Given the description of an element on the screen output the (x, y) to click on. 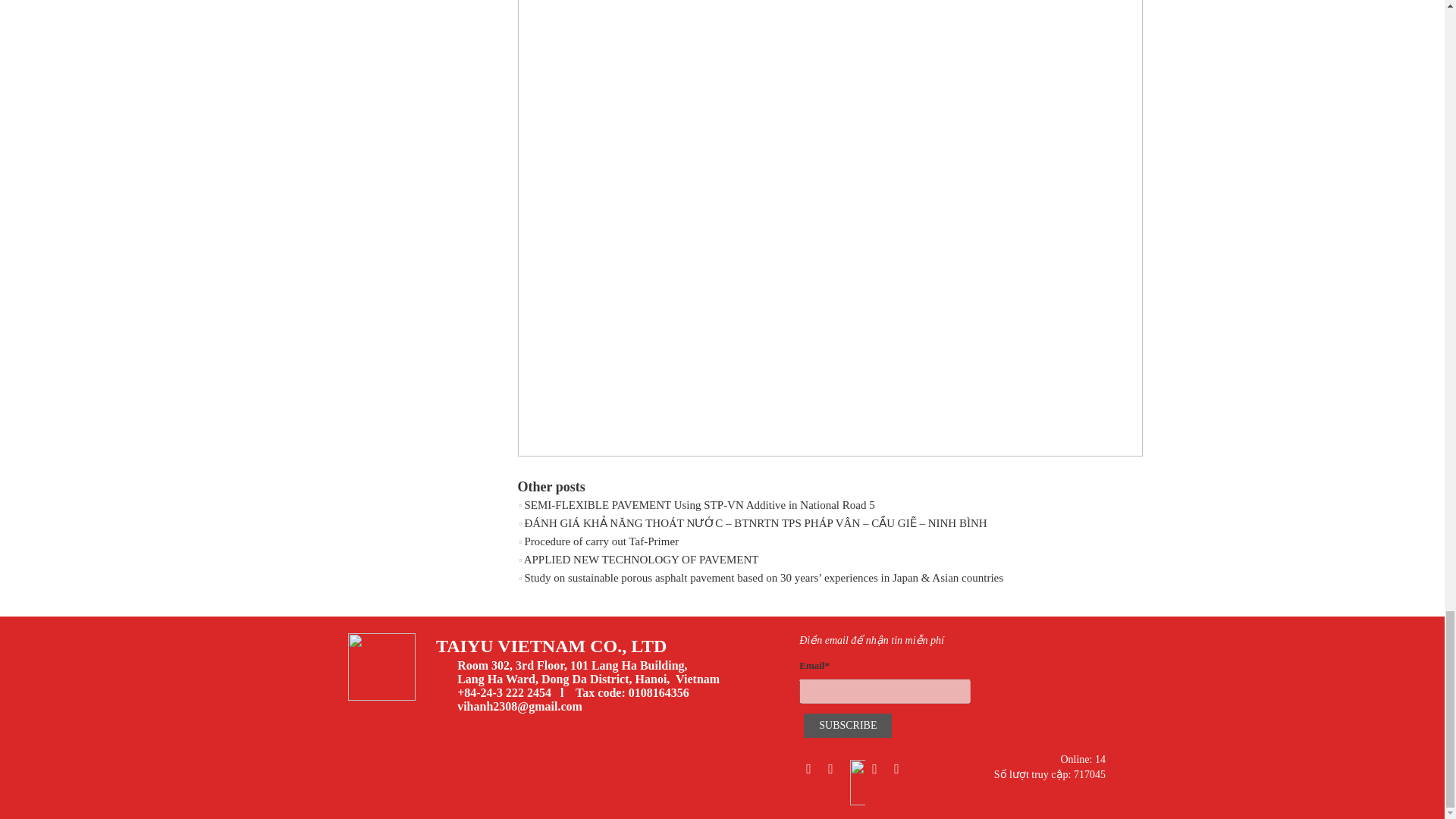
APPLIED NEW TECHNOLOGY OF PAVEMENT (641, 559)
Subscribe (847, 725)
Procedure of carry out Taf-Primer (601, 541)
Subscribe (847, 725)
